Given the description of an element on the screen output the (x, y) to click on. 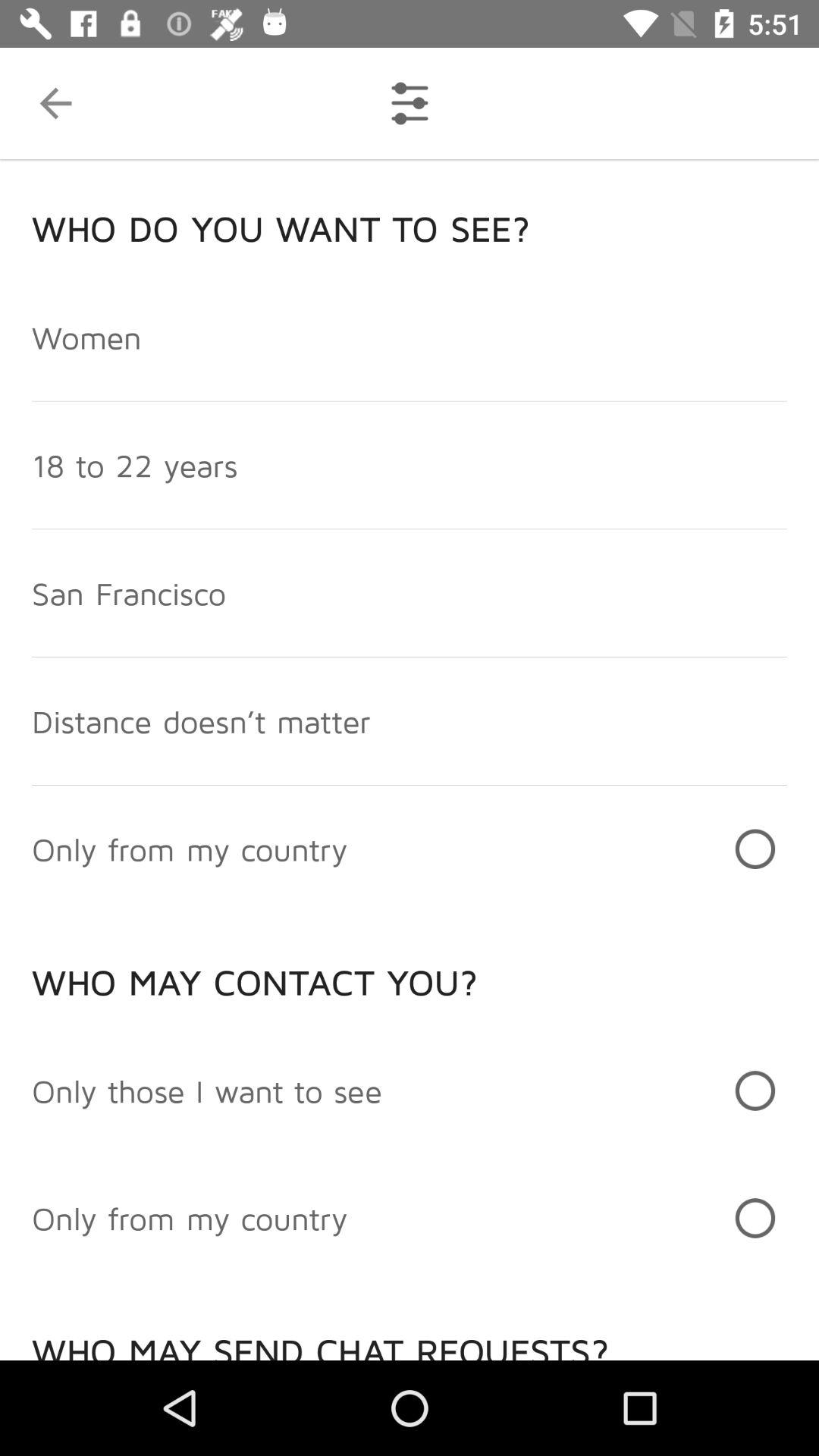
click the icon below who may contact icon (206, 1090)
